Given the description of an element on the screen output the (x, y) to click on. 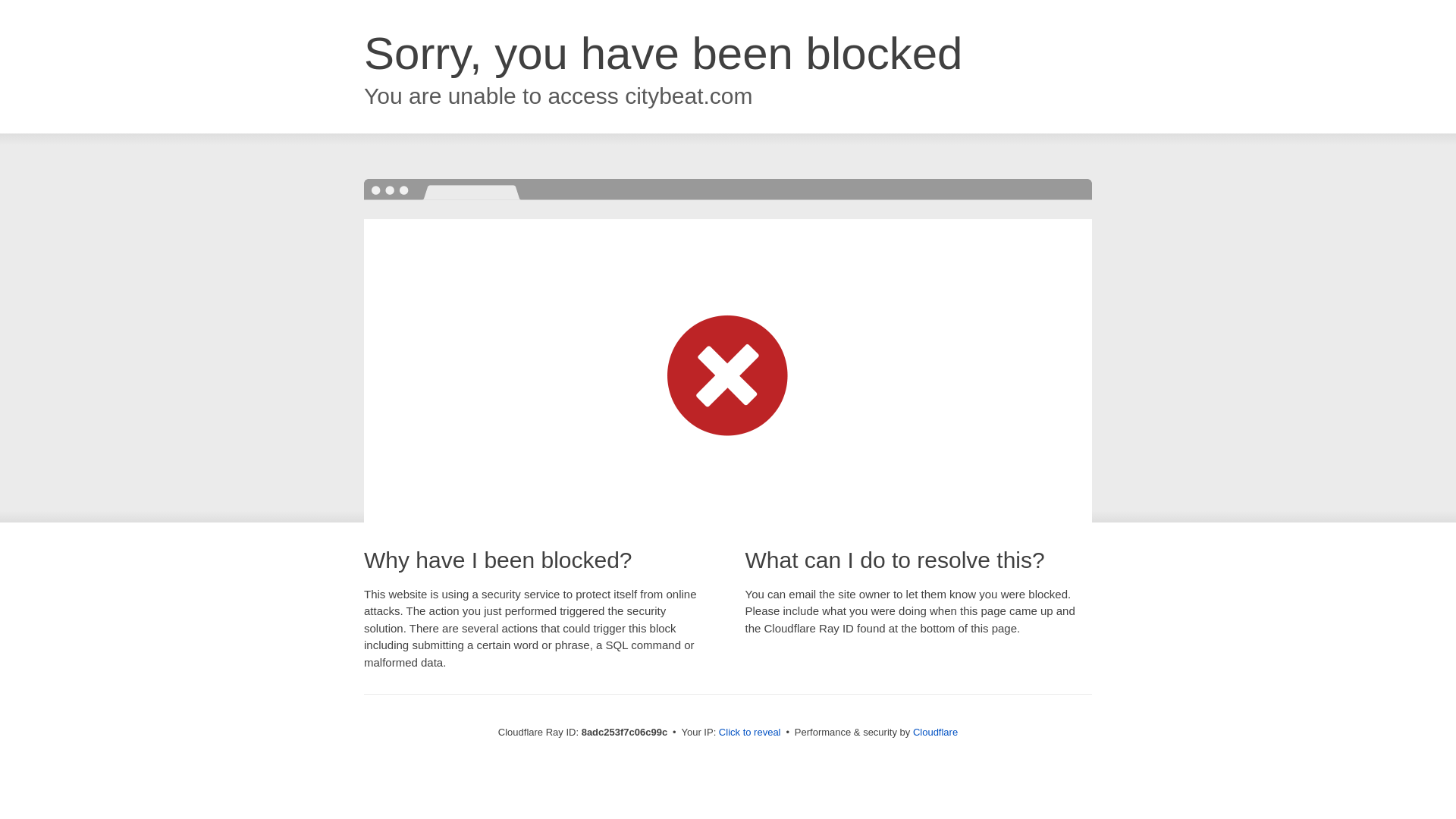
Cloudflare (935, 731)
Click to reveal (749, 732)
